Given the description of an element on the screen output the (x, y) to click on. 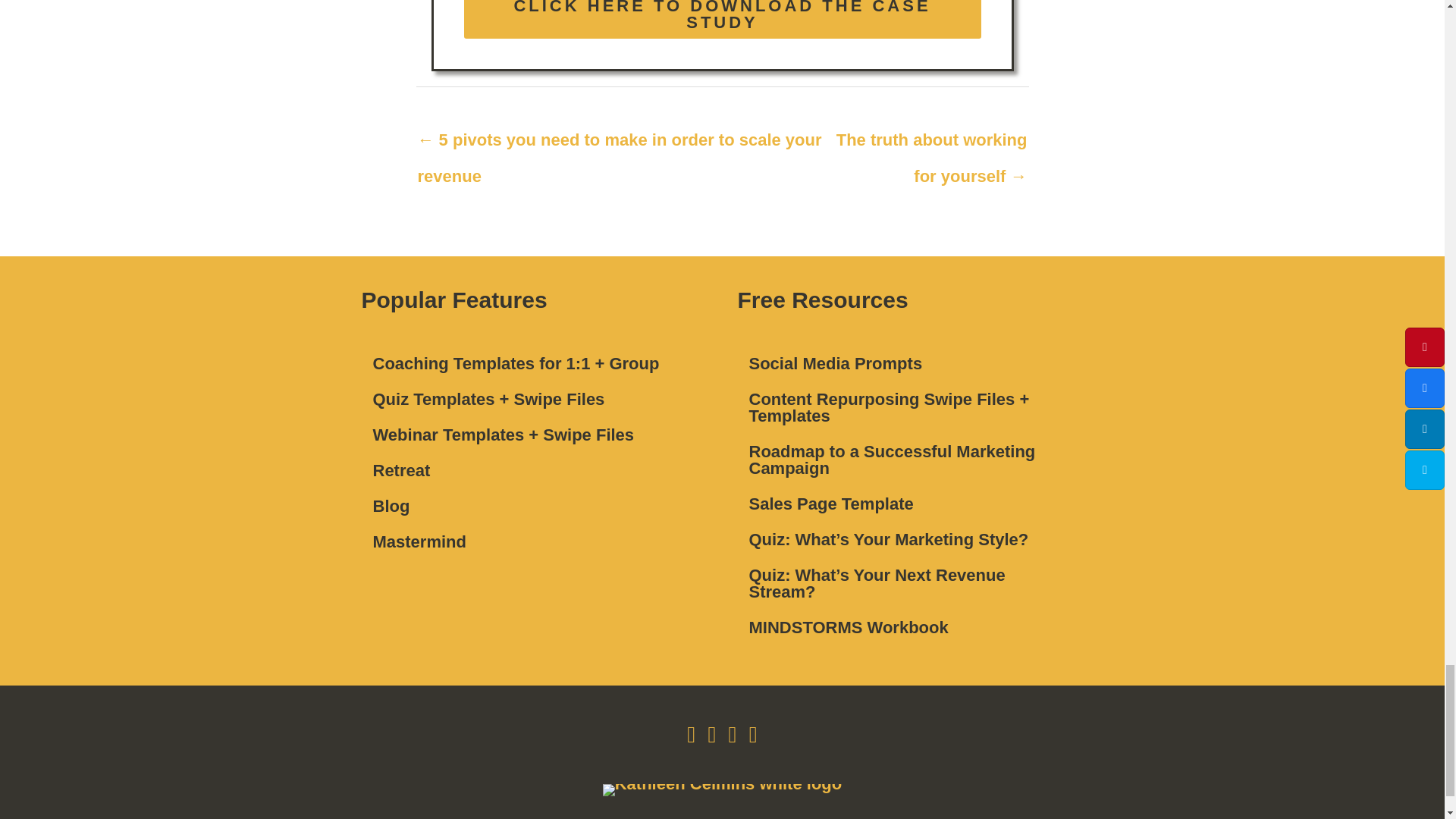
Roadmap to a Successful Marketing Campaign (910, 459)
Mastermind (534, 541)
Kathleen Celmins white logo (721, 789)
Blog (534, 506)
MINDSTORMS Workbook (910, 627)
Sales Page Template (910, 504)
Social Media Prompts (910, 364)
Retreat (534, 470)
CLICK HERE TO DOWNLOAD THE CASE STUDY (722, 19)
